Given the description of an element on the screen output the (x, y) to click on. 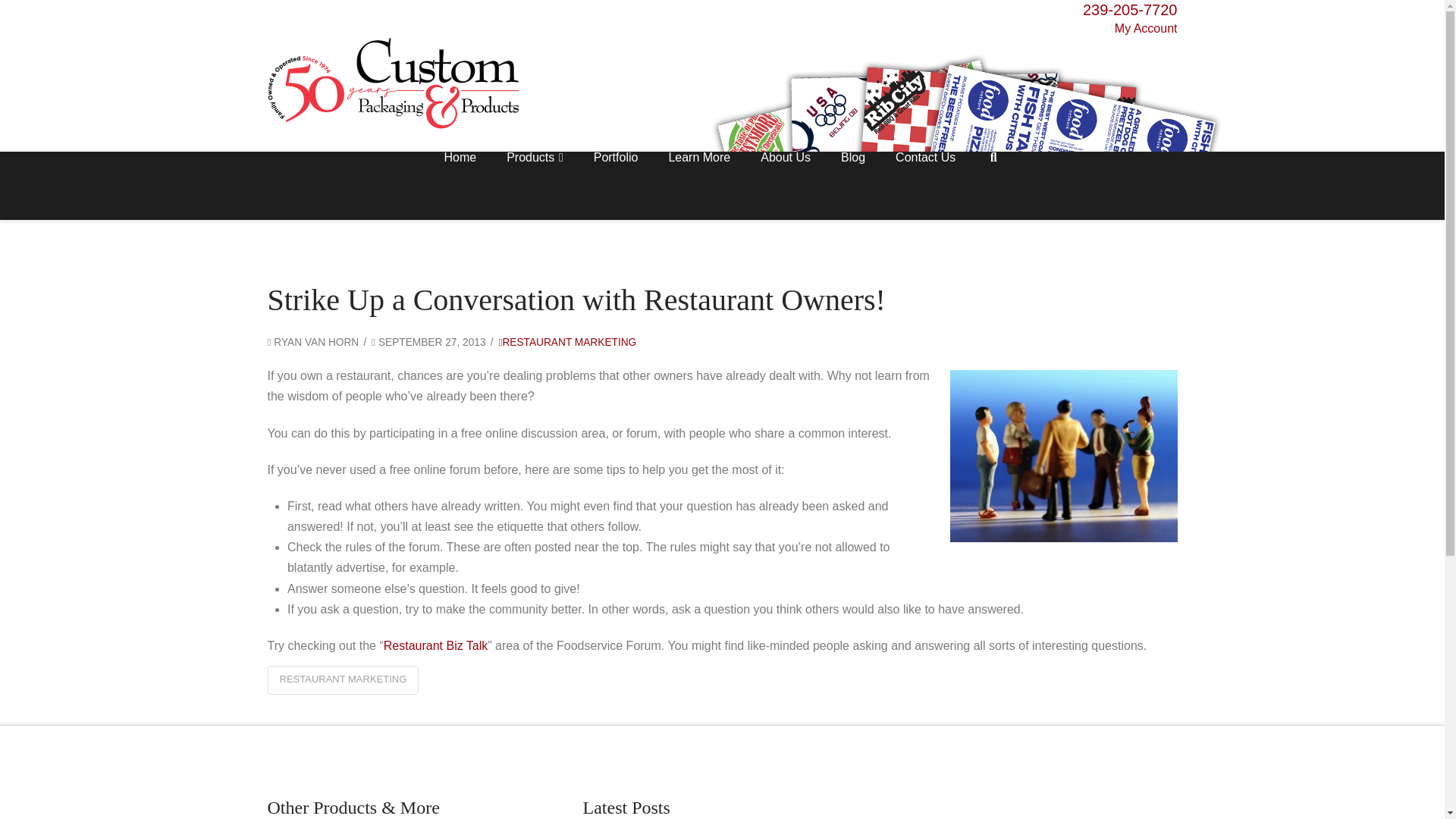
Home (460, 185)
My Account (721, 27)
Learn More (698, 185)
Portfolio (615, 185)
Contact Us (925, 185)
239-205-7720 (1130, 9)
About Us (785, 185)
Products (535, 185)
